Given the description of an element on the screen output the (x, y) to click on. 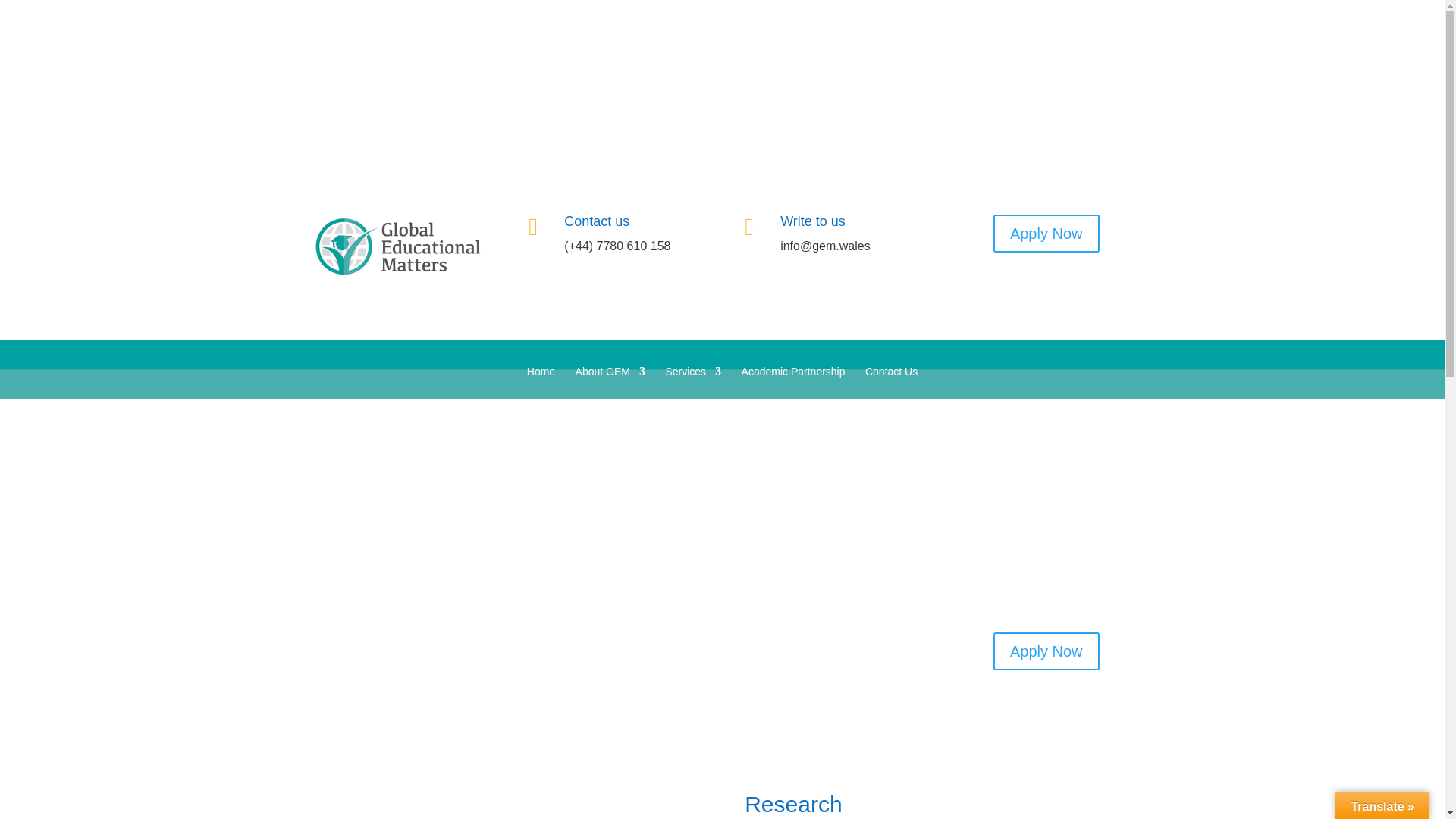
Twitter (1125, 73)
Apply Now (1045, 651)
Contact Us (890, 382)
Apply Now (1045, 233)
Academic Partnership (793, 382)
Facebook (1095, 73)
Services (692, 382)
Write to us (812, 221)
About GEM (610, 382)
